Given the description of an element on the screen output the (x, y) to click on. 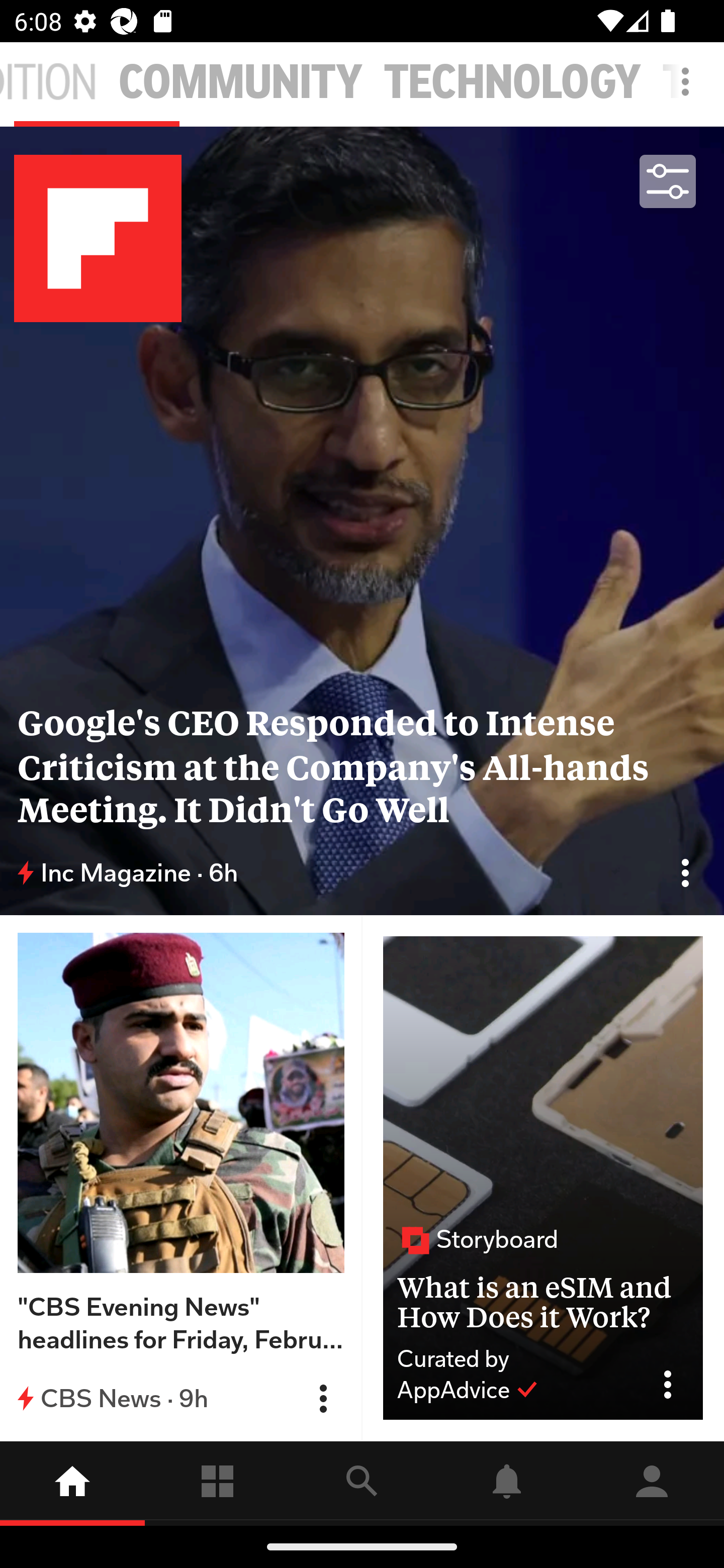
COMMUNITY (240, 82)
TECHNOLOGY (512, 82)
TRAVEL (693, 82)
Inc Magazine · 6h Flip into Magazine (362, 873)
Flip into Magazine (685, 872)
Curated by (514, 1359)
Share (674, 1385)
CBS News · 9h Flip into Magazine (181, 1398)
Flip into Magazine (323, 1398)
AppAdvice (467, 1389)
home (72, 1482)
Following (216, 1482)
explore (361, 1482)
Notifications (506, 1482)
Profile (651, 1482)
